Given the description of an element on the screen output the (x, y) to click on. 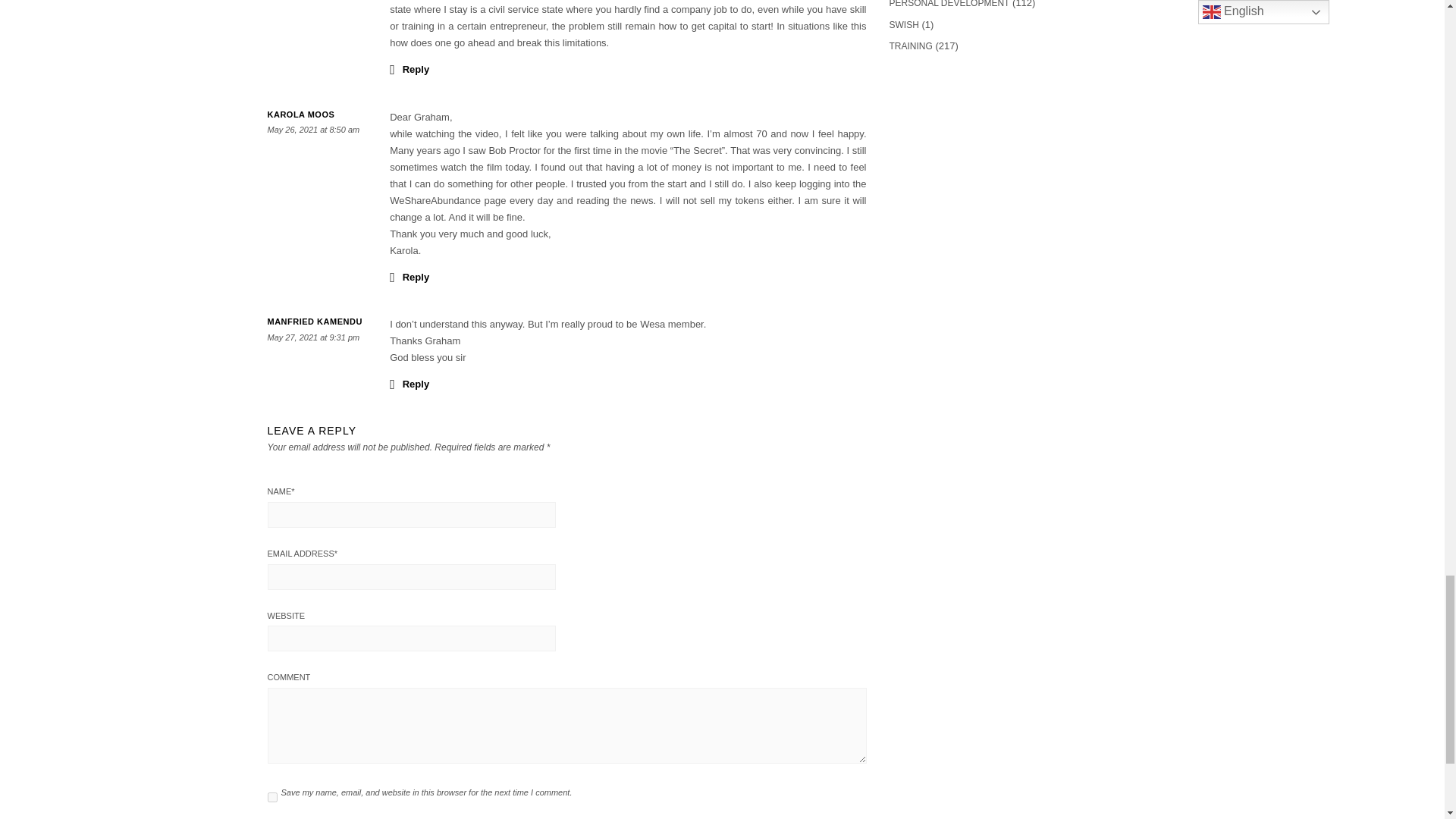
yes (271, 797)
